Given the description of an element on the screen output the (x, y) to click on. 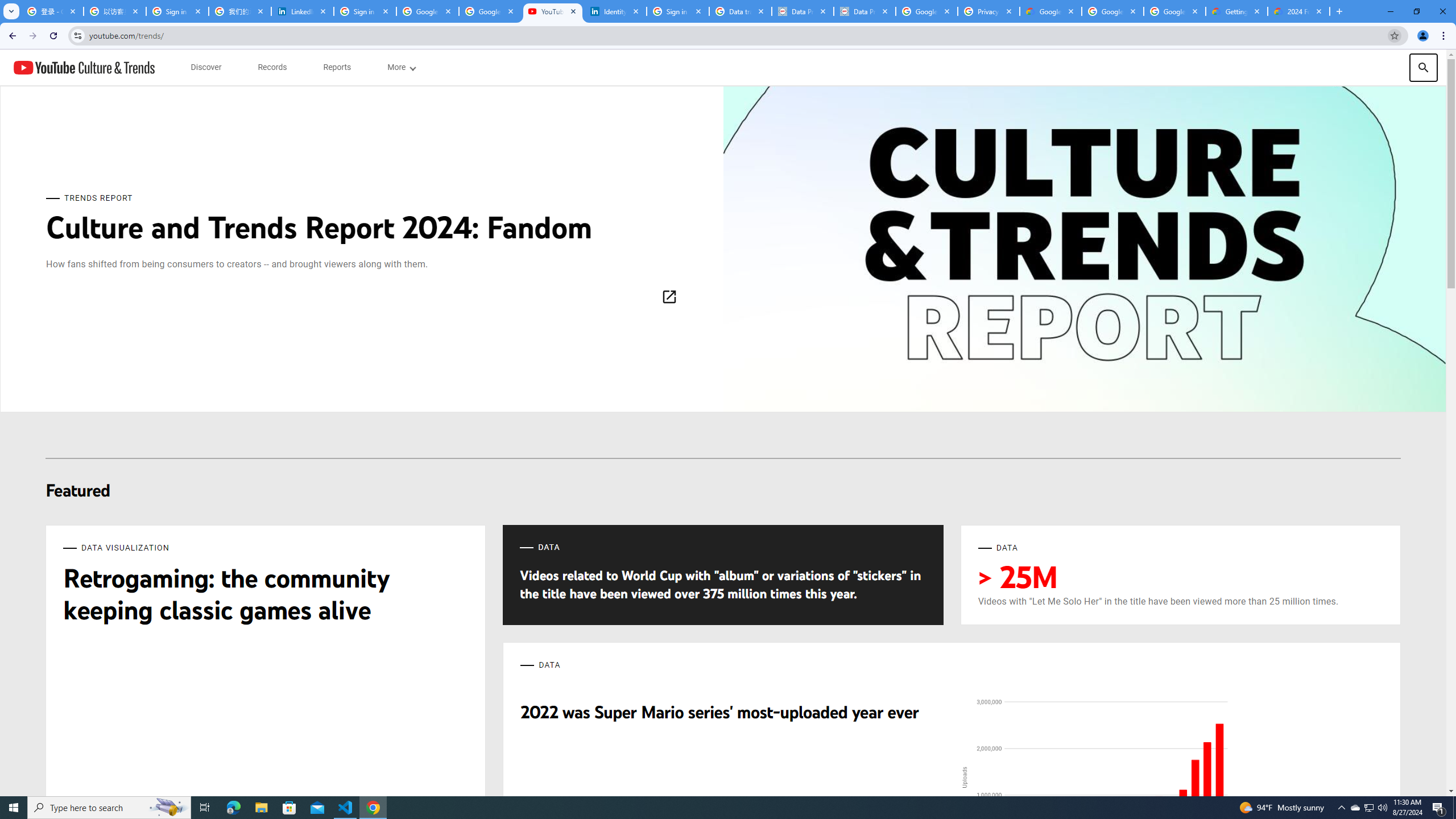
subnav-Reports menupopup (336, 67)
Google Workspace - Specific Terms (1174, 11)
Sign in - Google Accounts (678, 11)
subnav-More menupopup (401, 67)
subnav-Reports menupopup (336, 67)
subnav-Records menupopup (271, 67)
